Given the description of an element on the screen output the (x, y) to click on. 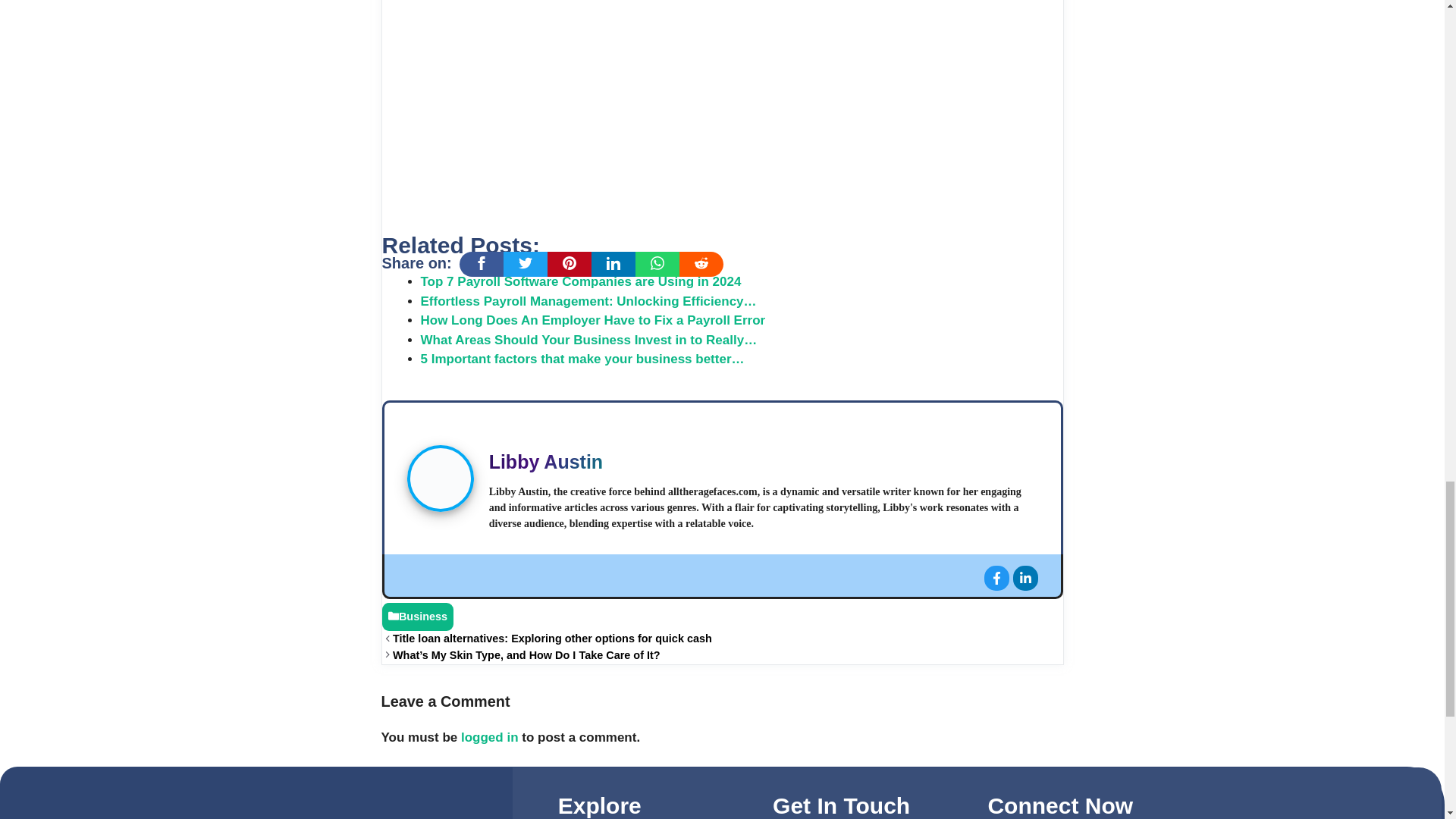
How Long Does An Employer Have to Fix a Payroll Error (592, 319)
Libby Austin (545, 461)
Top 7 Payroll Software Companies are Using in 2024 (580, 281)
